Given the description of an element on the screen output the (x, y) to click on. 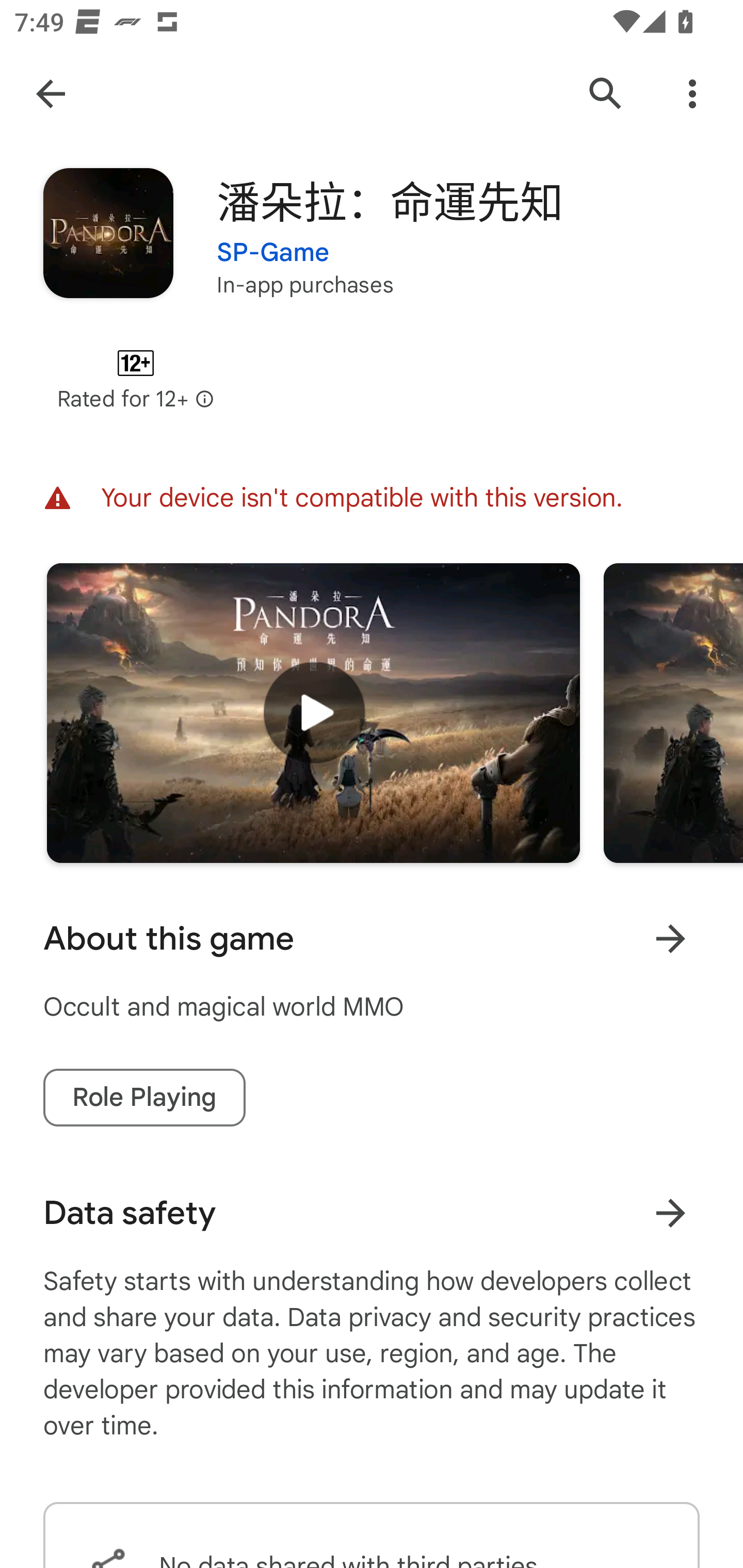
Navigate up (50, 93)
Search Google Play (605, 93)
More Options (692, 93)
SP-Game (272, 240)
Content rating Rated for 12+ (135, 379)
Play trailer for "潘朵拉：命運先知" (313, 712)
About this game Learn more About this game (371, 938)
Learn more About this game (670, 938)
Role Playing tag (144, 1097)
Data safety Learn more about data safety (371, 1212)
Learn more about data safety (670, 1212)
